Given the description of an element on the screen output the (x, y) to click on. 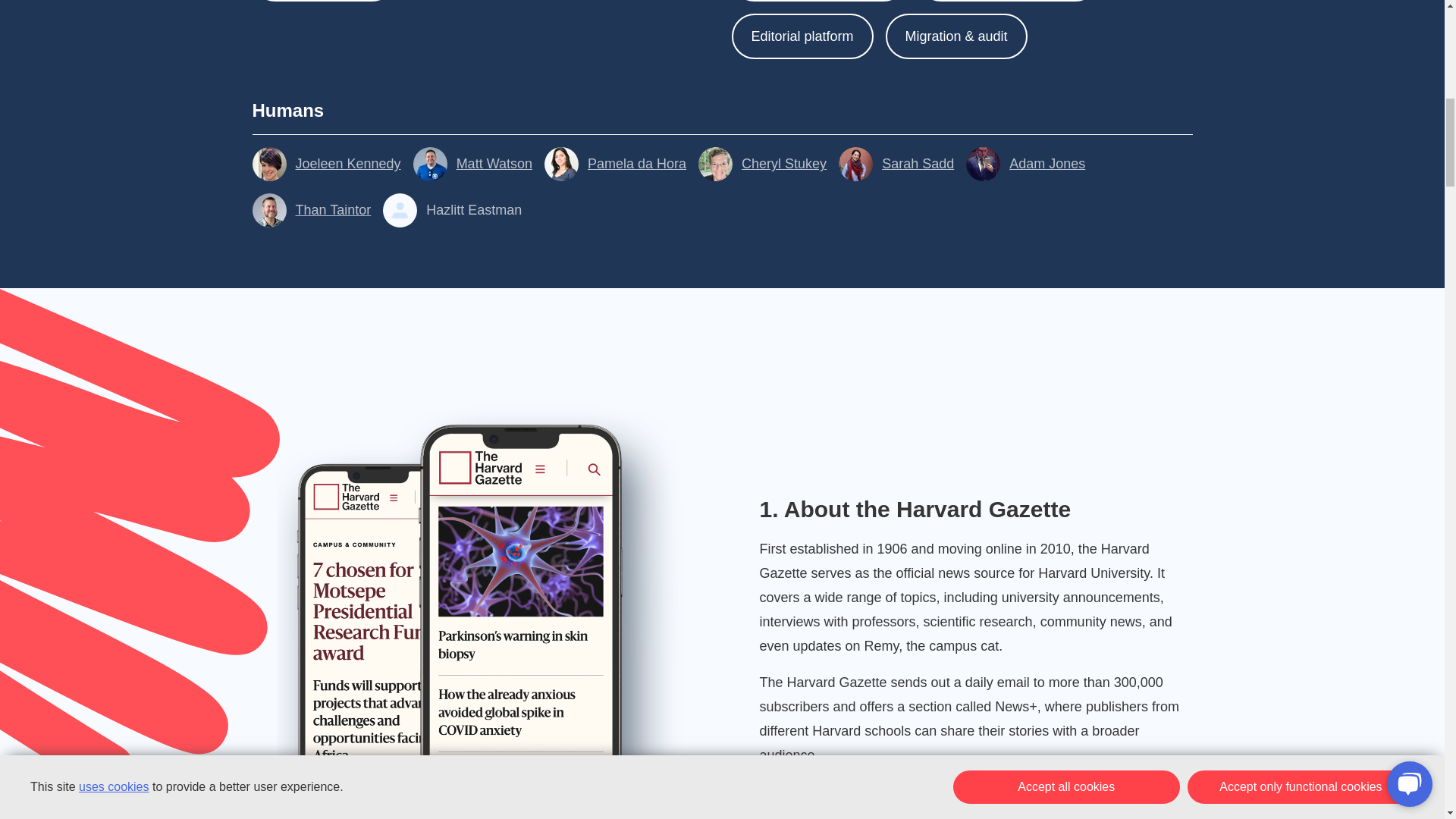
Adam Jones (1025, 163)
Than Taintor (311, 210)
Sarah Sadd (895, 163)
Joeleen Kennedy (325, 163)
Matt Watson (472, 163)
Higher education (322, 0)
Editorial platform (801, 35)
Pamela da Hora (614, 163)
Cheryl Stukey (762, 163)
